Given the description of an element on the screen output the (x, y) to click on. 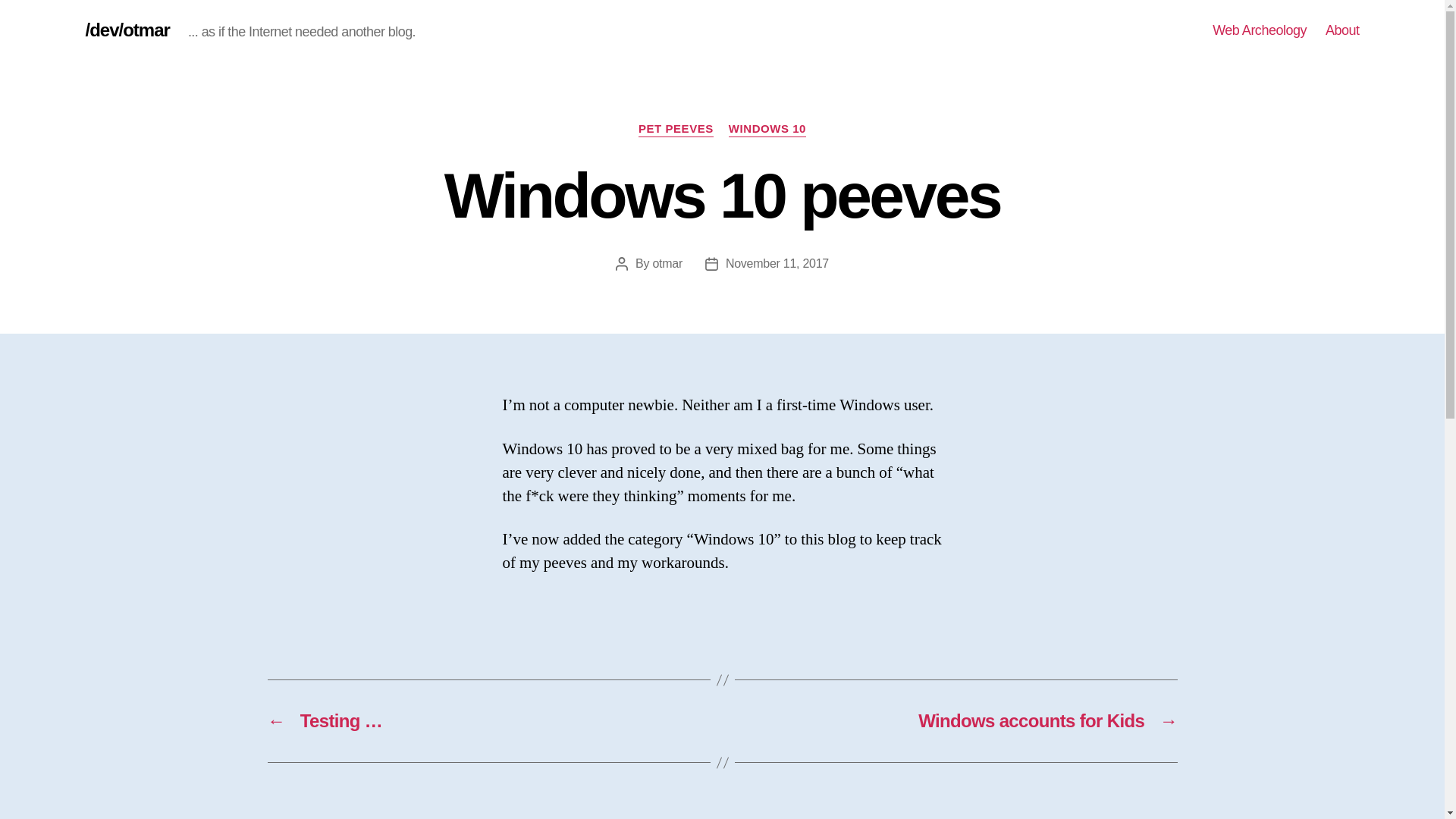
otmar (667, 263)
Web Archeology (1259, 30)
PET PEEVES (676, 129)
November 11, 2017 (776, 263)
About (1341, 30)
WINDOWS 10 (767, 129)
